Given the description of an element on the screen output the (x, y) to click on. 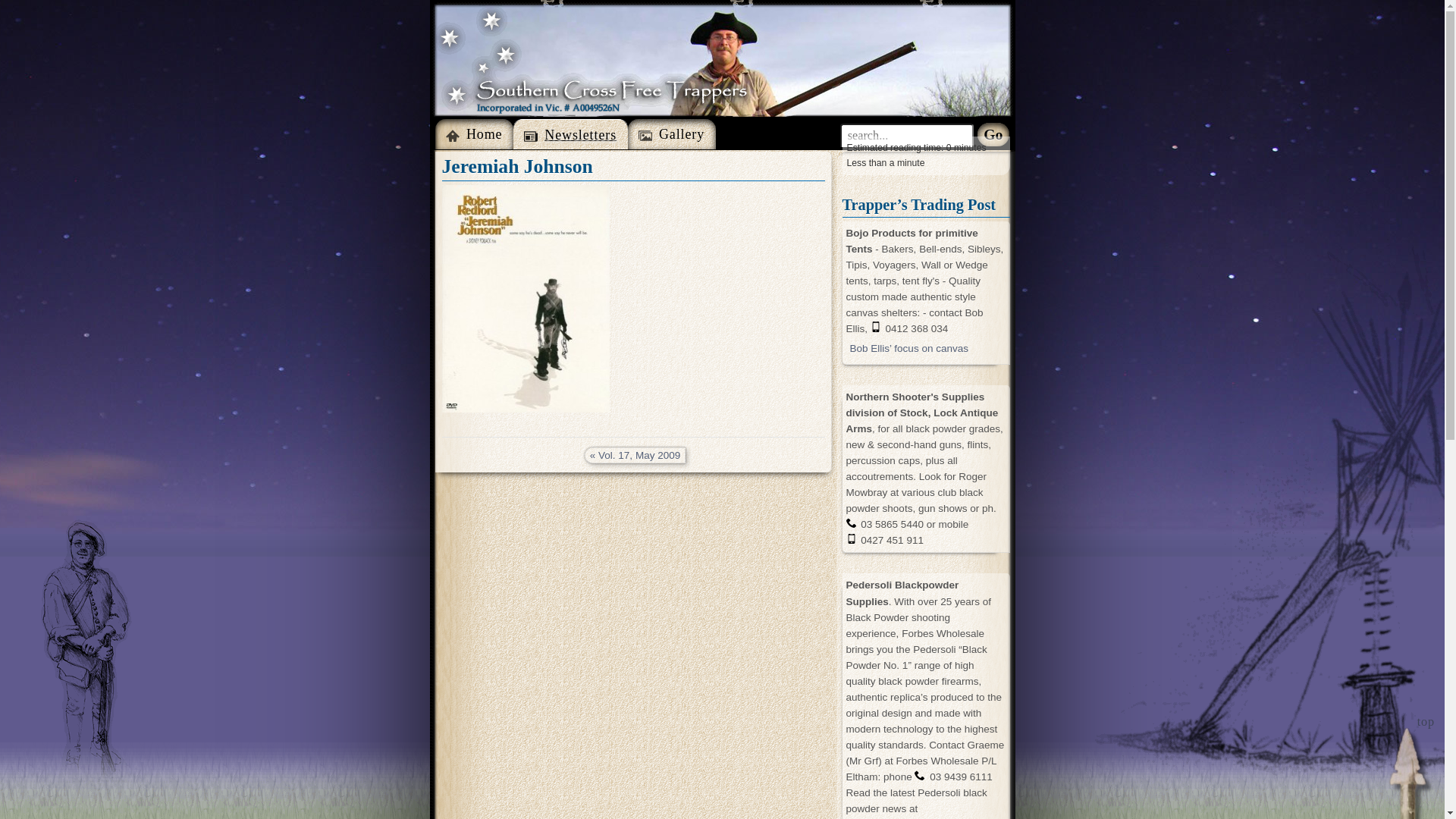
Search around the traps... Element type: hover (906, 135)
Newsletters Element type: text (570, 134)
Gallery Element type: text (671, 134)
Go Element type: text (992, 134)
Home Element type: text (474, 134)
Jeremiah Johnson Element type: text (632, 166)
